Given the description of an element on the screen output the (x, y) to click on. 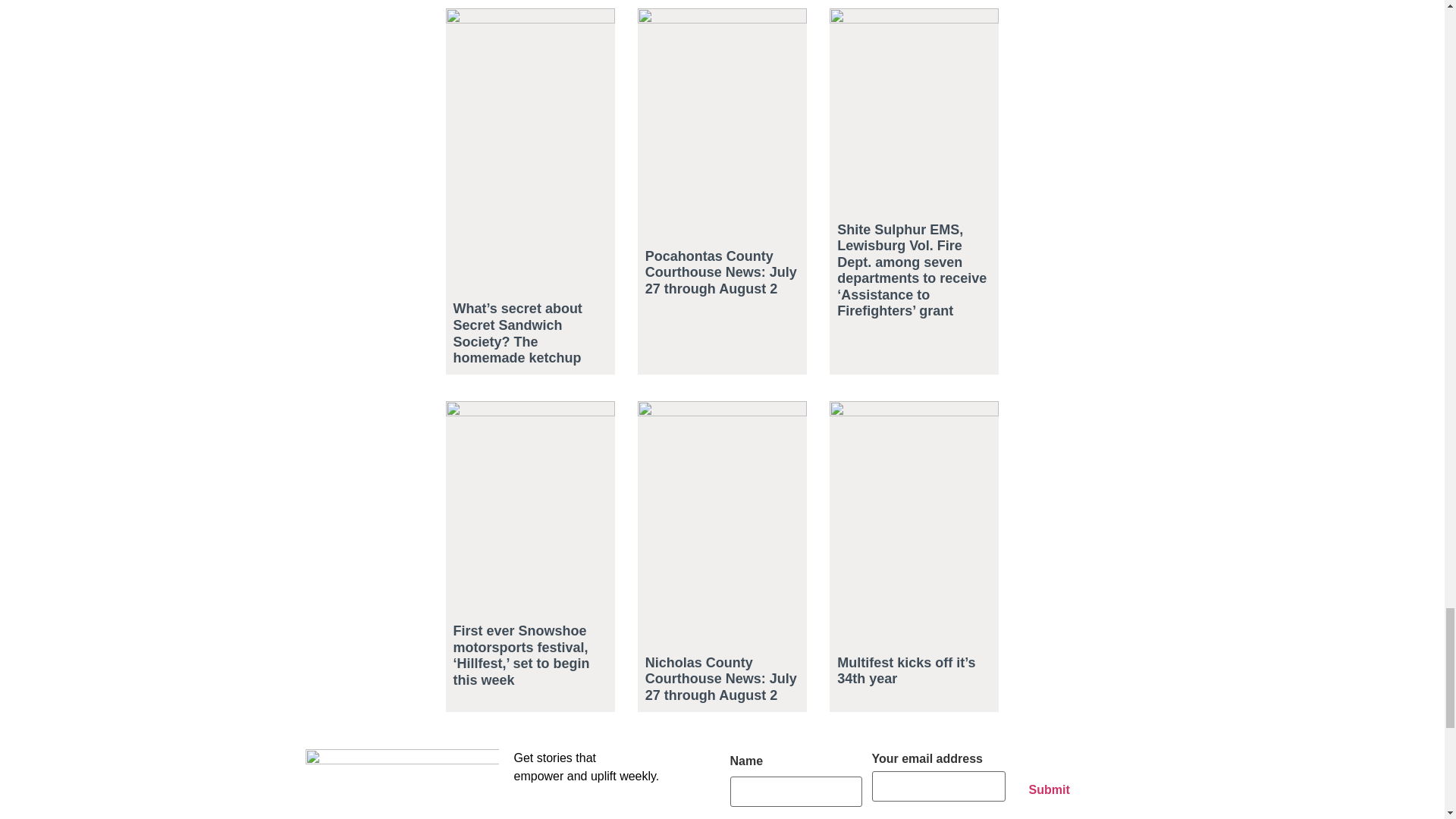
Nicholas County Courthouse News: July 27 through August 2 (720, 678)
Submit (1048, 789)
Pocahontas County Courthouse News: July 27 through August 2 (720, 272)
Submit (1048, 789)
